Given the description of an element on the screen output the (x, y) to click on. 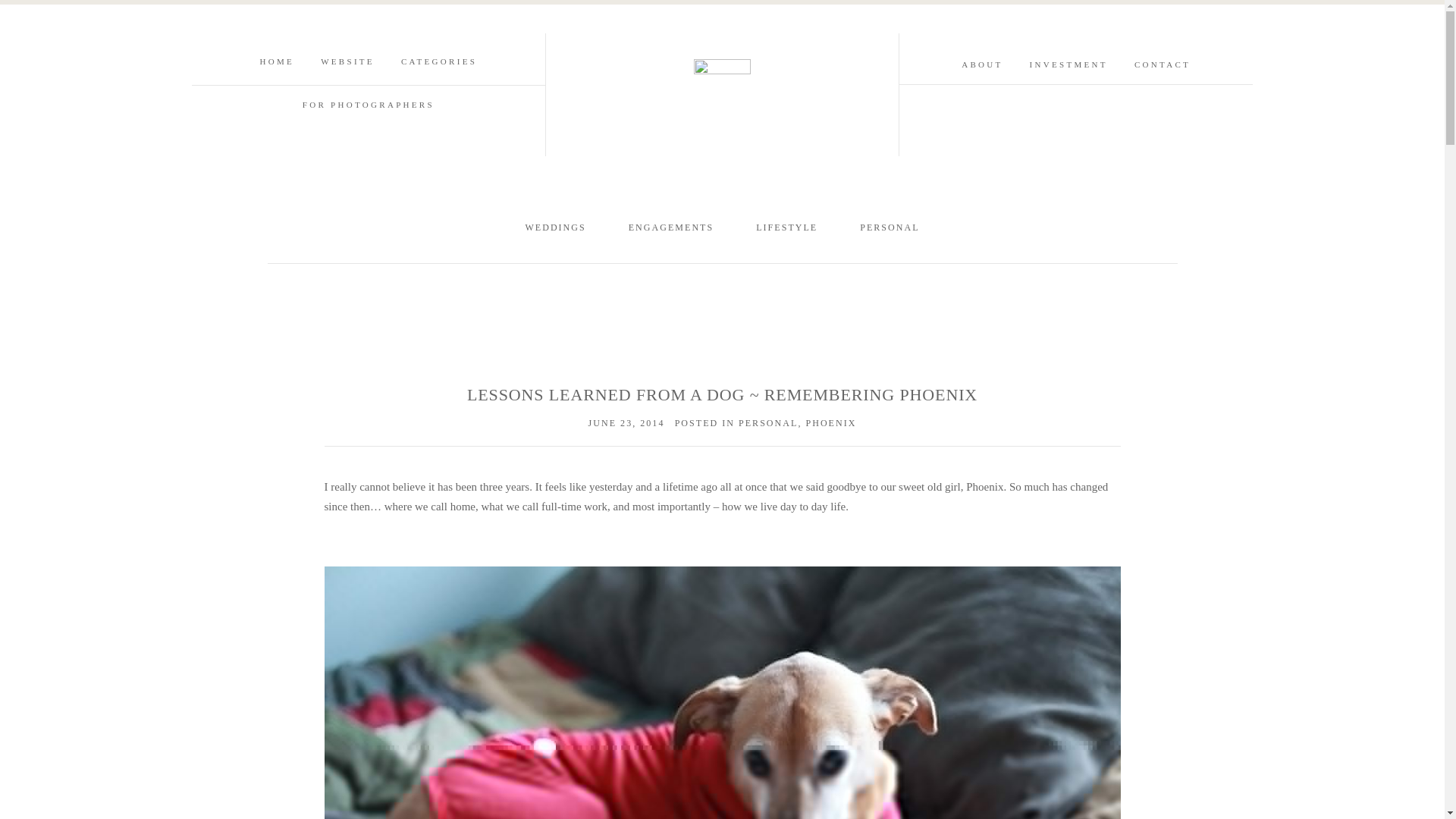
ABOUT (981, 63)
HOME (277, 61)
WEBSITE (347, 61)
FOR PHOTOGRAPHERS (367, 103)
